Given the description of an element on the screen output the (x, y) to click on. 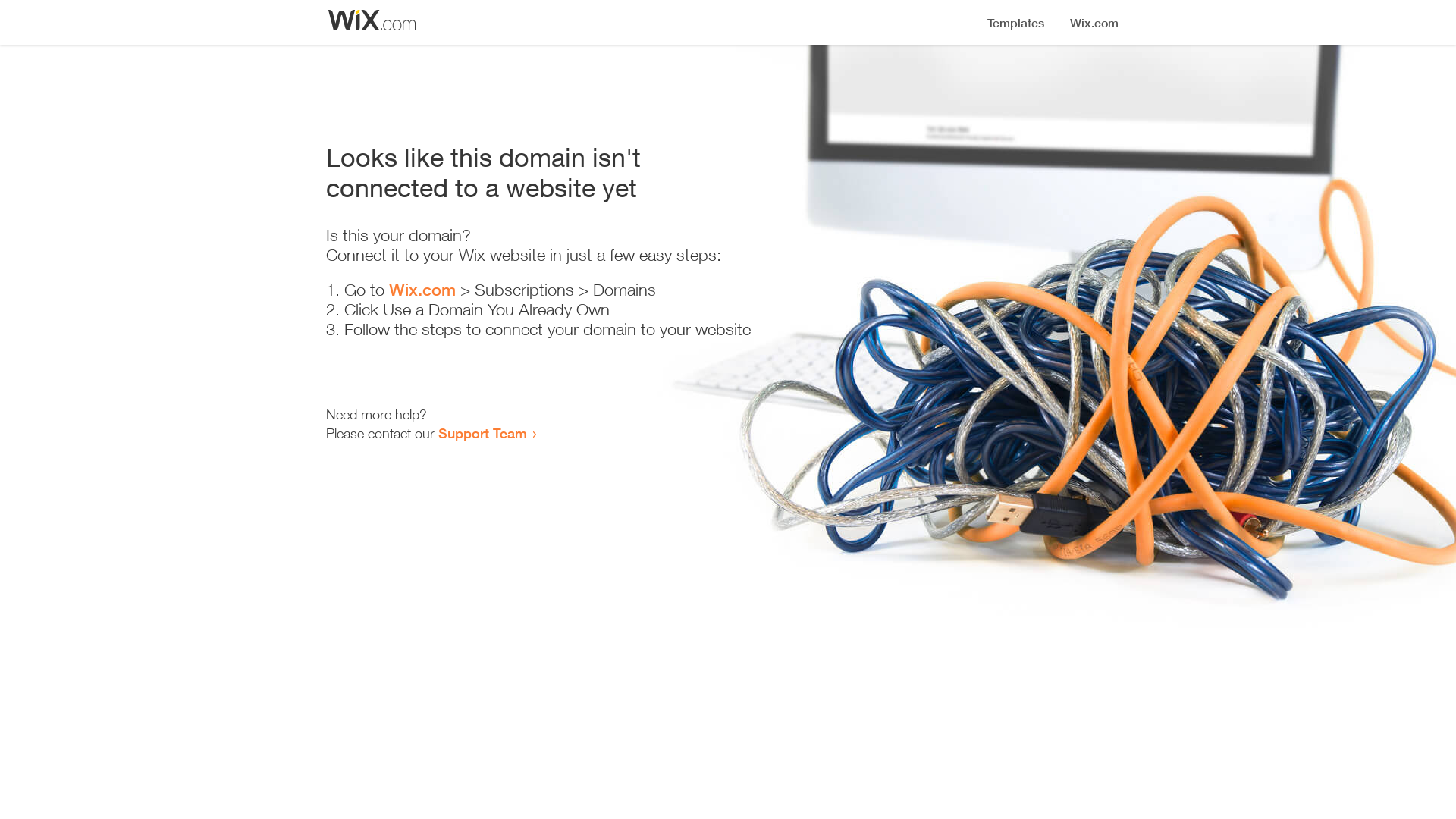
Wix.com Element type: text (422, 289)
Support Team Element type: text (482, 432)
